Given the description of an element on the screen output the (x, y) to click on. 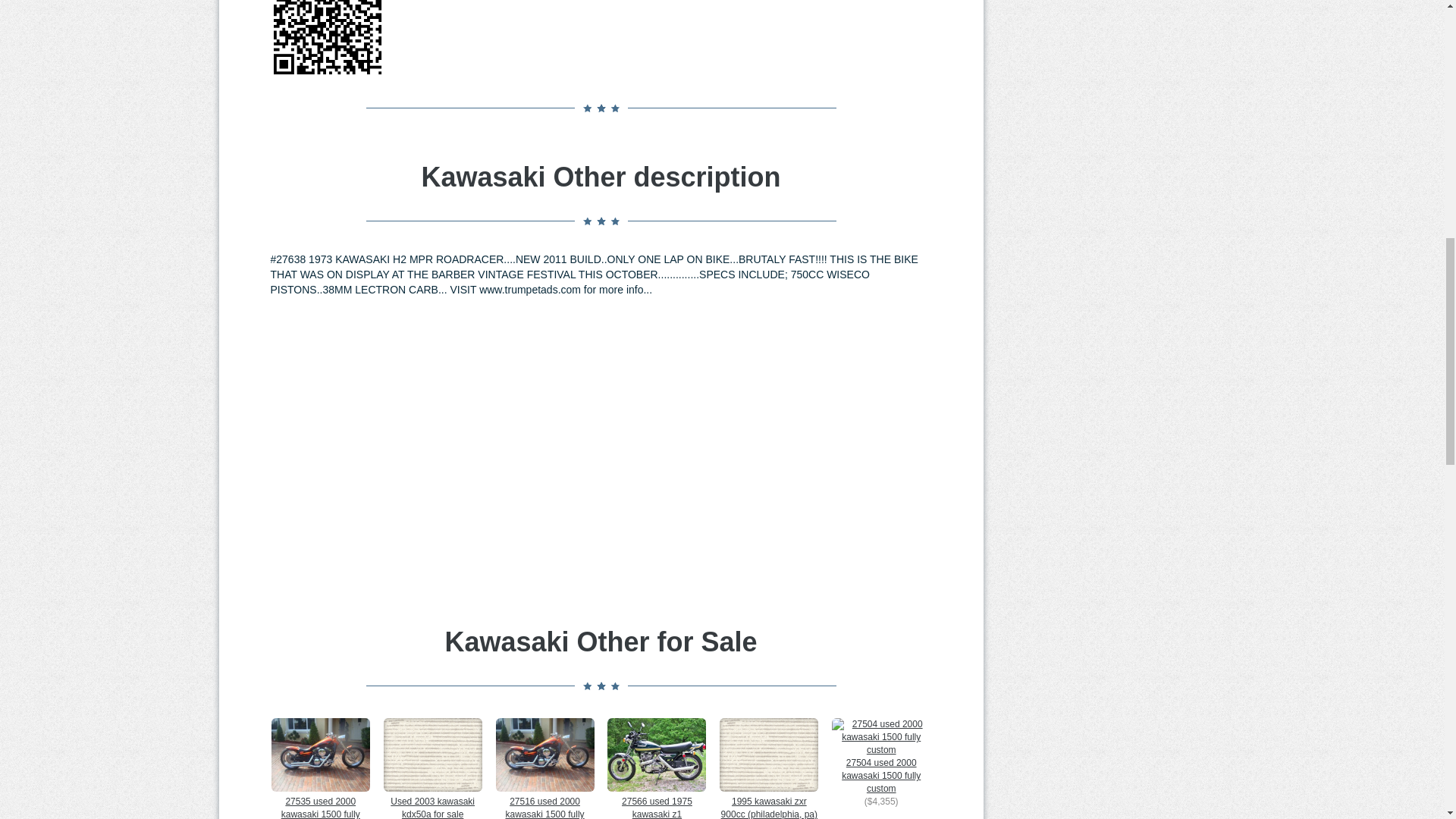
27535 used 2000 kawasaki 1500 fully custom (319, 768)
27504 used 2000 kawasaki 1500 fully custom (880, 756)
27566 used 1975 kawasaki z1 (656, 768)
27516 used 2000 kawasaki 1500 fully custom (545, 768)
Used 2003 kawasaki kdx50a for sale (432, 768)
